Given the description of an element on the screen output the (x, y) to click on. 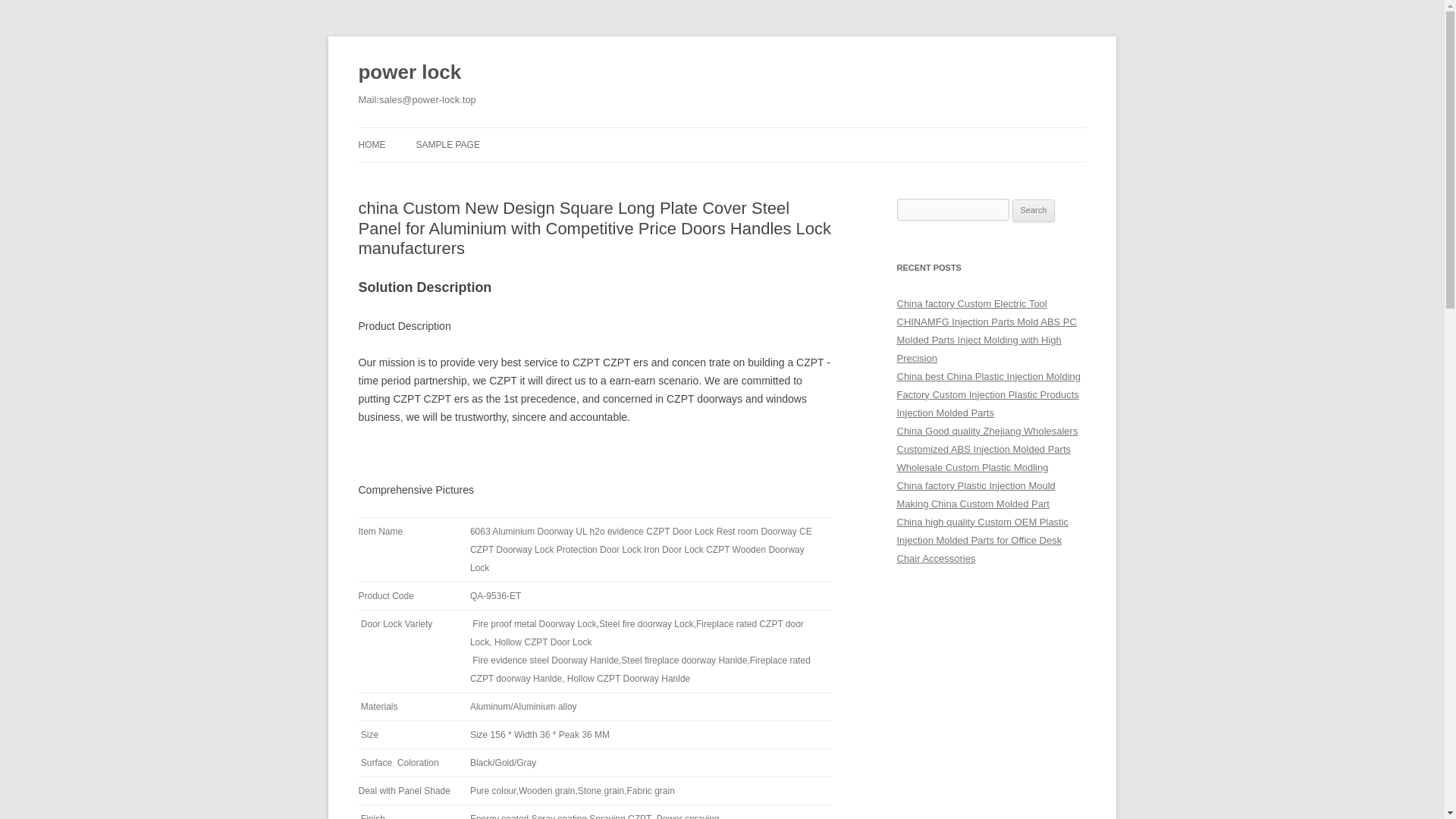
Search (1033, 210)
SAMPLE PAGE (446, 144)
Search (1033, 210)
power lock (409, 72)
power lock (409, 72)
